Given the description of an element on the screen output the (x, y) to click on. 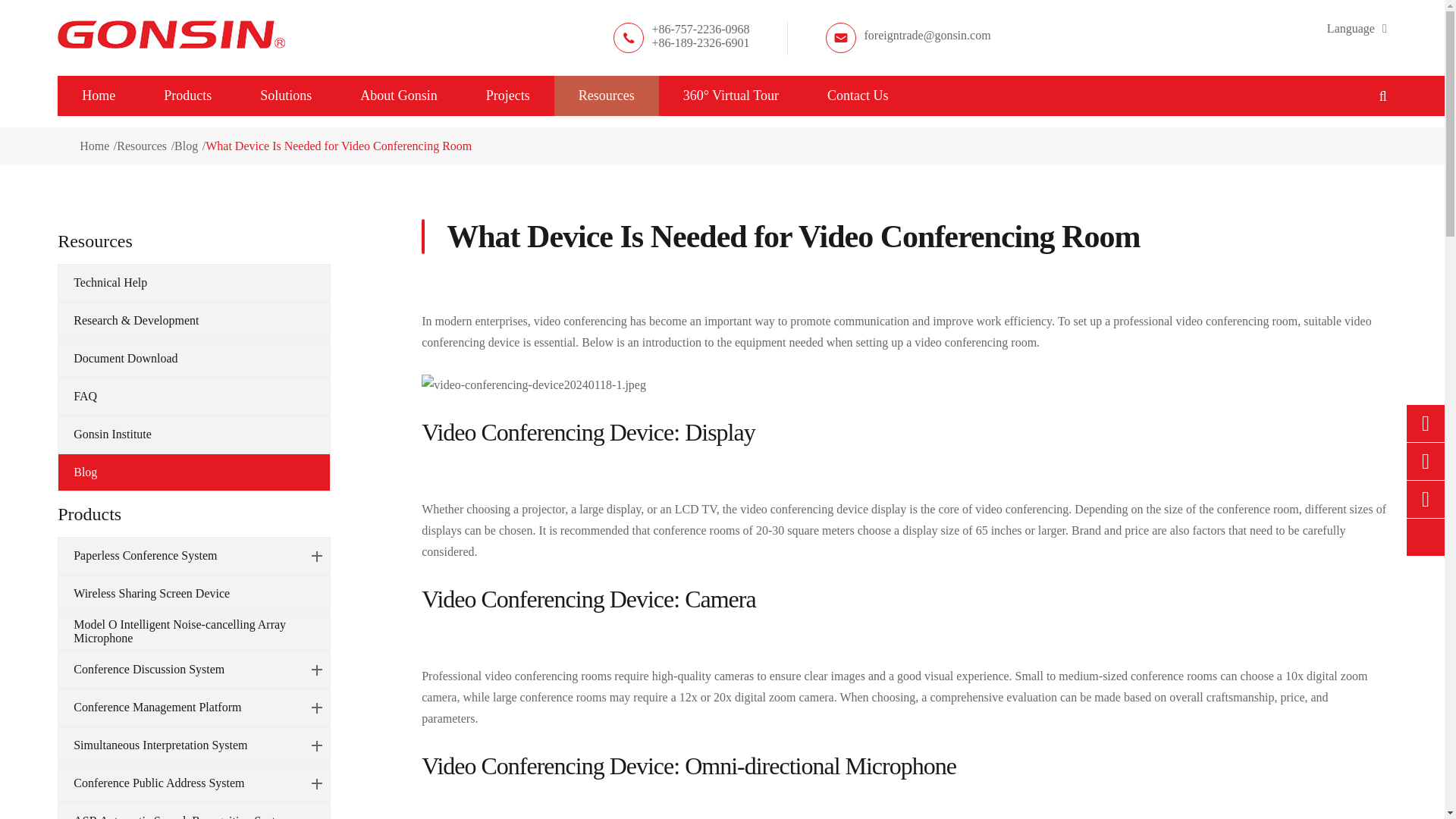
Products (187, 96)
Home (98, 96)
Gonsin Conference Equipment Co., LTD.  (171, 34)
